Given the description of an element on the screen output the (x, y) to click on. 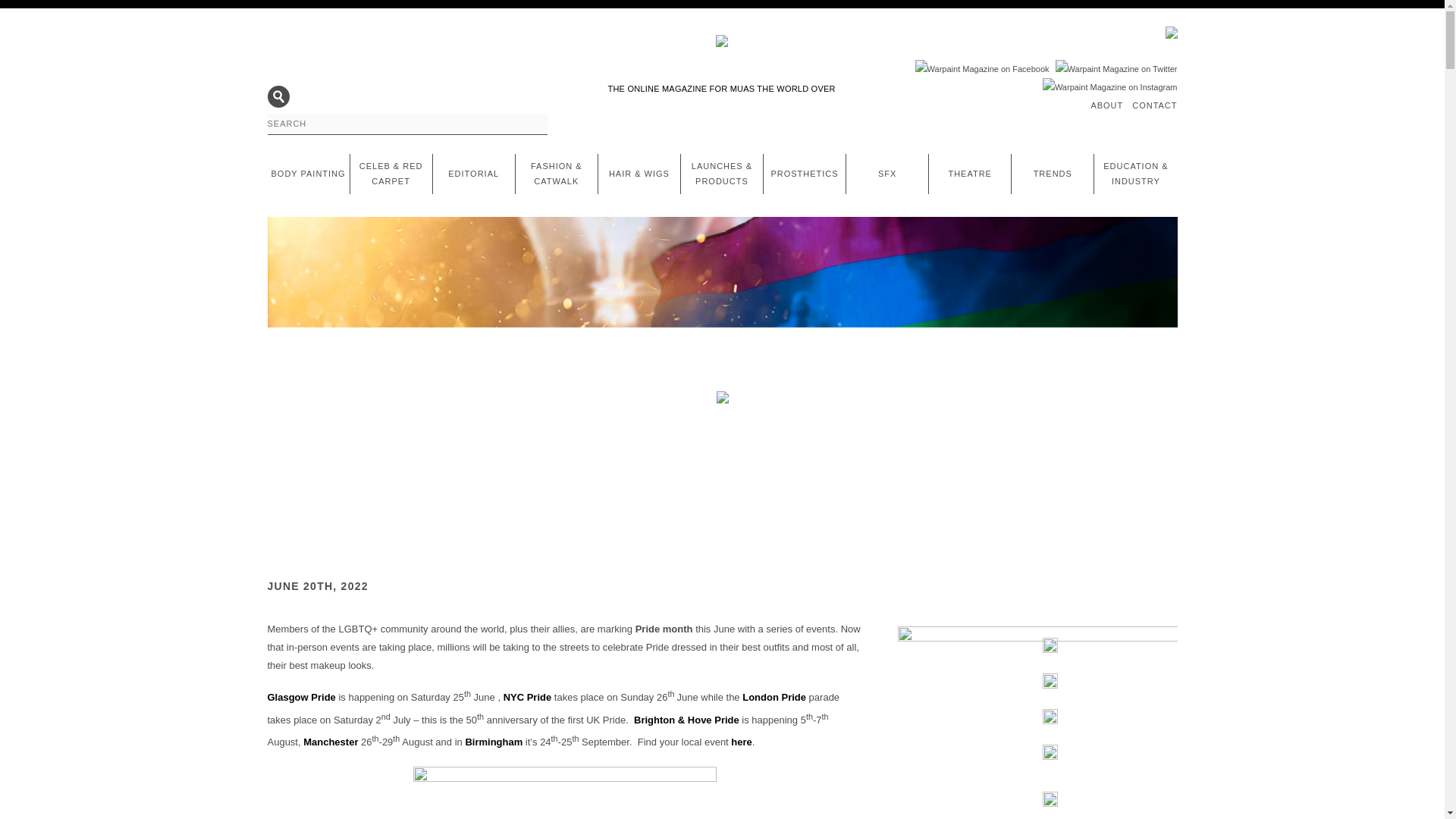
CONTACT (1154, 104)
London Pride (774, 697)
Glasgow Pride (300, 697)
Birmingham (493, 741)
ABOUT (1106, 104)
here (740, 741)
THEATRE (969, 173)
BODY PAINTING (308, 173)
Manchester (330, 741)
NYC Pride (527, 697)
